Given the description of an element on the screen output the (x, y) to click on. 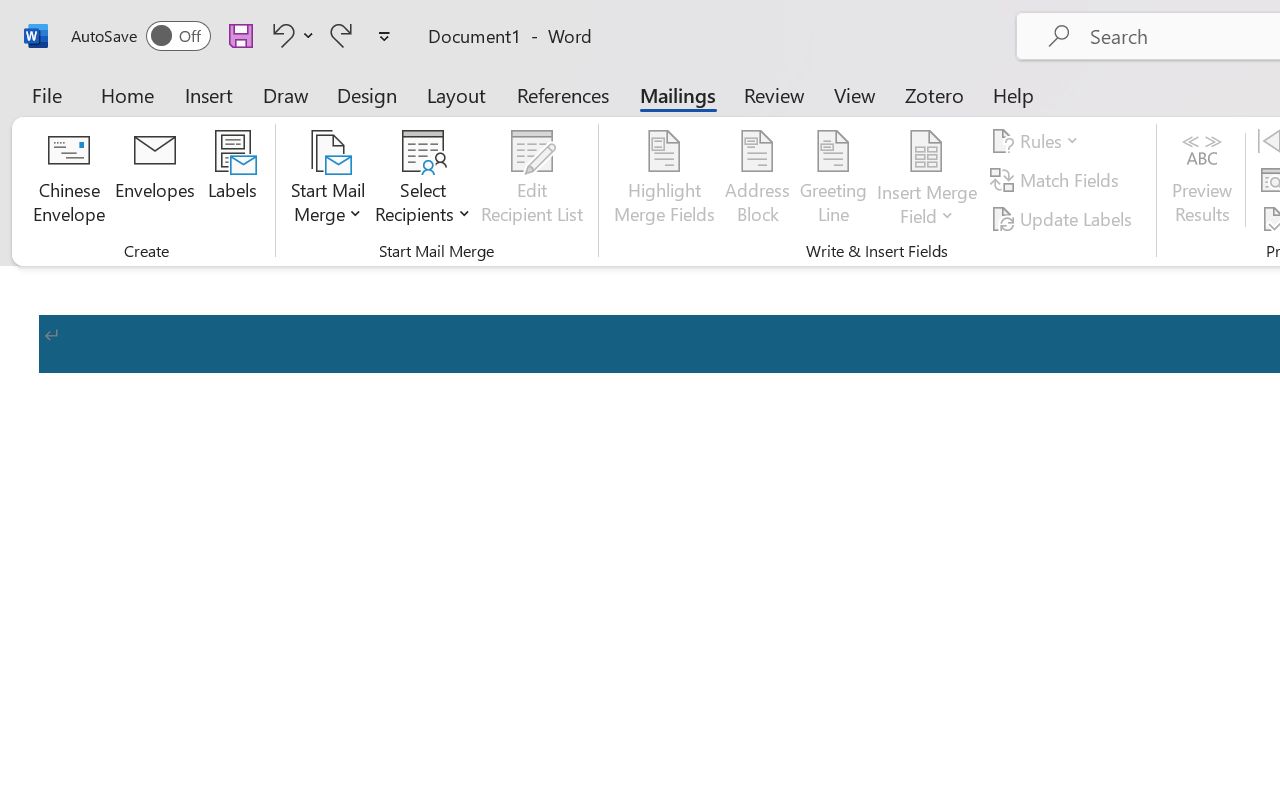
Labels... (232, 179)
Start Mail Merge (328, 179)
Address Block... (757, 179)
Undo Apply Quick Style Set (290, 35)
Insert Merge Field (927, 179)
Undo Apply Quick Style Set (280, 35)
Chinese Envelope... (68, 179)
Highlight Merge Fields (664, 179)
